Given the description of an element on the screen output the (x, y) to click on. 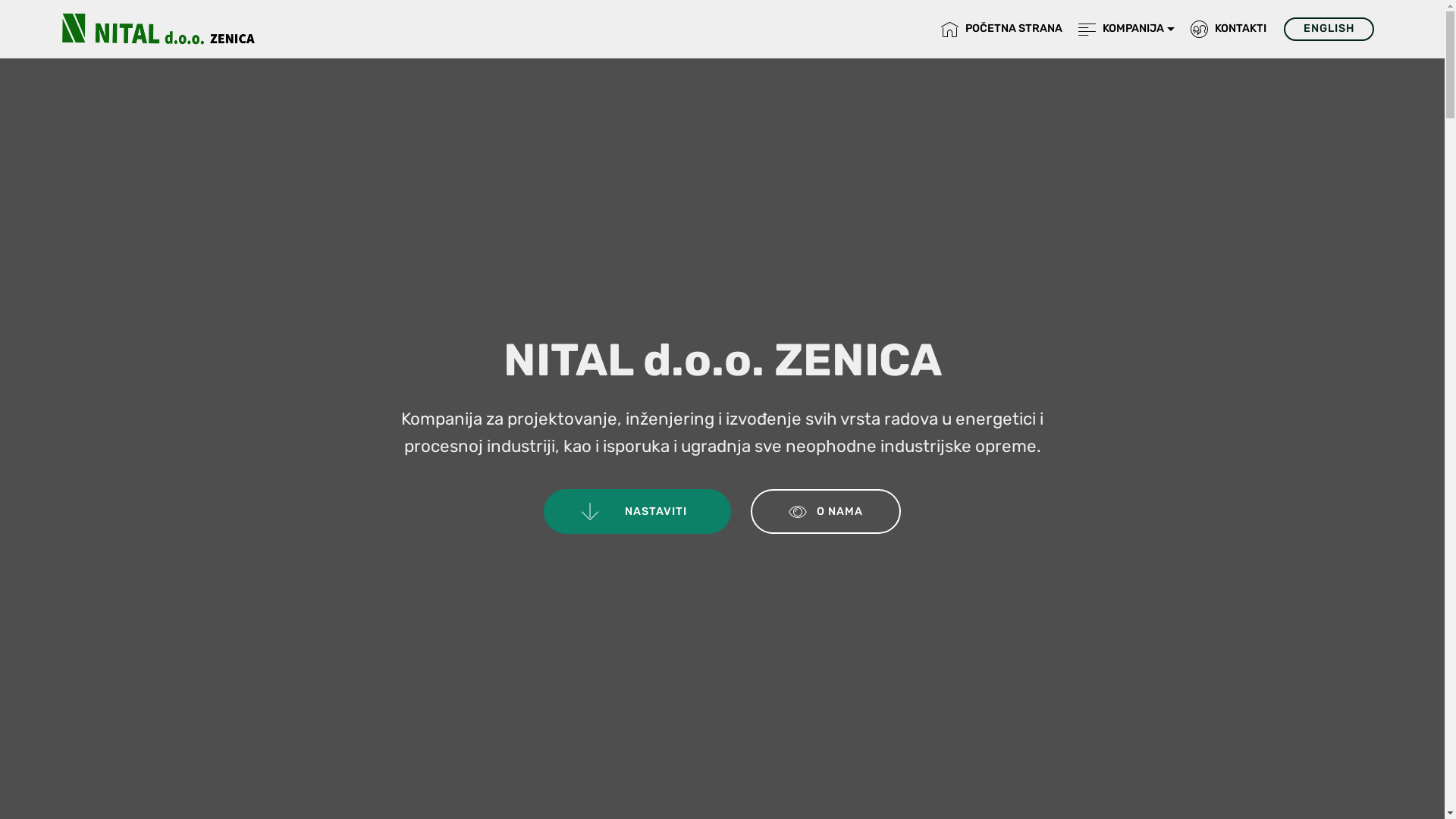
KONTAKTI Element type: text (1228, 29)
     NASTAVITI   Element type: text (637, 511)
ENGLISH Element type: text (1328, 28)
O NAMA Element type: text (825, 511)
KOMPANIJA Element type: text (1126, 29)
